Given the description of an element on the screen output the (x, y) to click on. 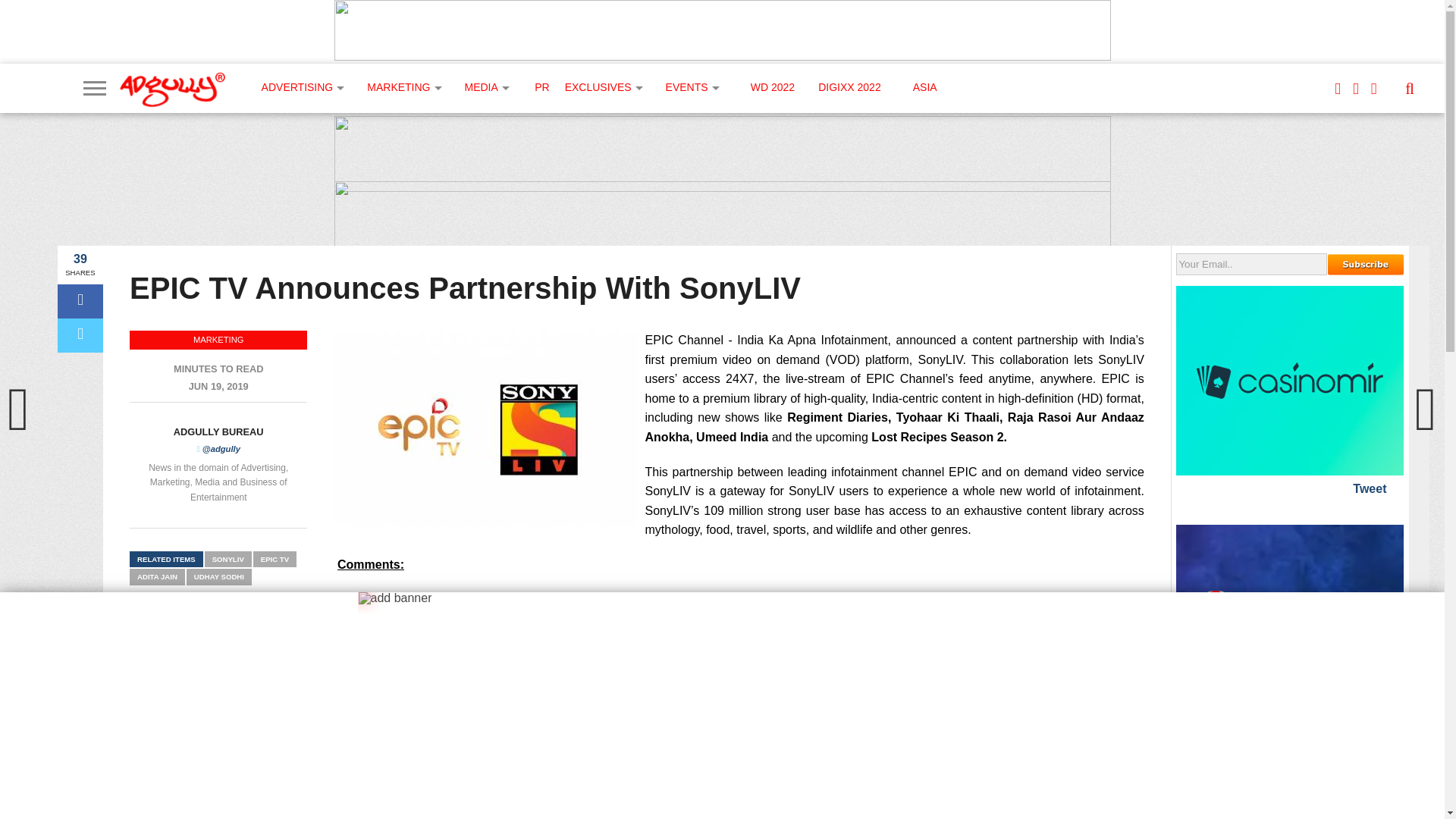
Tweet This Post (80, 335)
Share on Facebook (80, 301)
Your Email.. (1251, 264)
Posts by Adgully Bureau (218, 431)
